Given the description of an element on the screen output the (x, y) to click on. 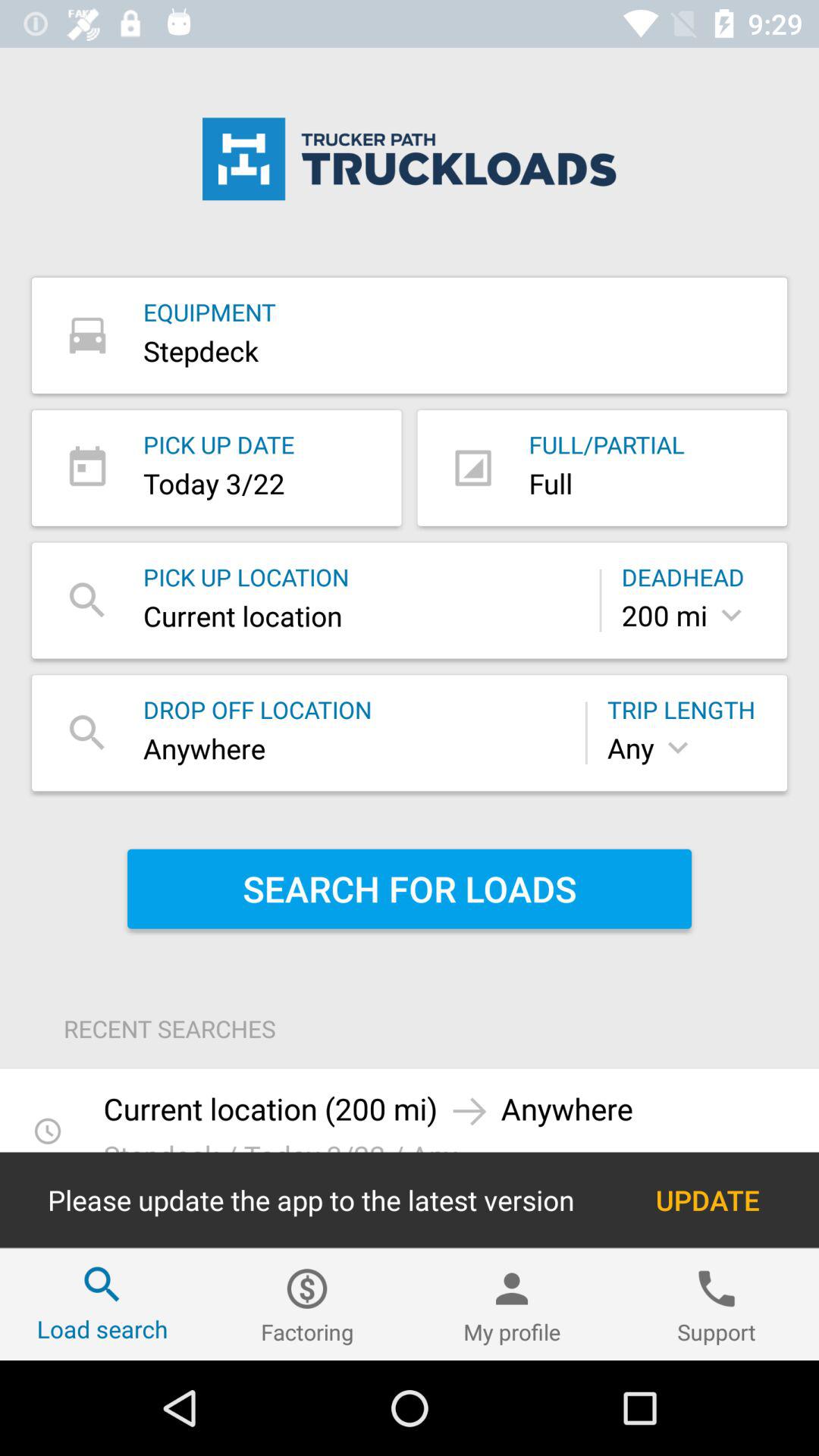
press the icon next to the factoring (102, 1304)
